Given the description of an element on the screen output the (x, y) to click on. 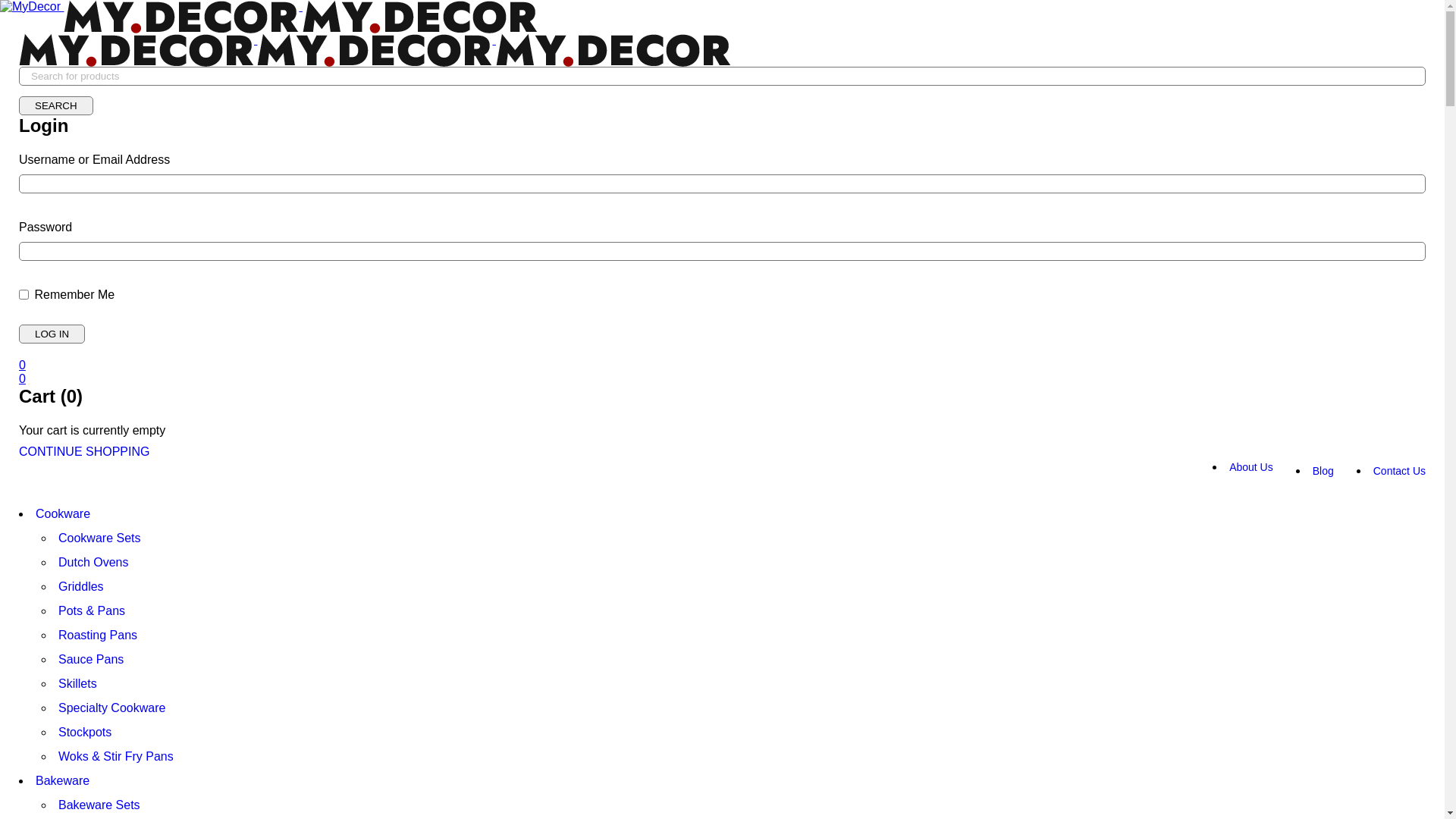
Bakeware Sets Element type: text (99, 804)
0 Element type: text (21, 364)
Roasting Pans Element type: text (97, 634)
Skillets Element type: text (77, 683)
Woks & Stir Fry Pans Element type: text (115, 755)
Cookware Element type: text (62, 513)
Log In Element type: text (51, 333)
Griddles Element type: text (80, 586)
MyDecor Element type: hover (30, 6)
Contact Us Element type: text (1399, 470)
MyDecor Element type: hover (136, 49)
MyDecor Element type: hover (613, 49)
About Us Element type: text (1251, 467)
MyDecor Element type: hover (419, 16)
Stockpots Element type: text (84, 731)
MyDecor Element type: hover (374, 49)
Cookware Sets Element type: text (99, 537)
Dutch Ovens Element type: text (93, 561)
Pots & Pans Element type: text (91, 610)
Bakeware Element type: text (62, 780)
Search Element type: text (55, 105)
CONTINUE SHOPPING Element type: text (83, 451)
Specialty Cookware Element type: text (111, 707)
Blog Element type: text (1322, 470)
0 Element type: text (21, 378)
MyDecor Element type: hover (180, 16)
Sauce Pans Element type: text (90, 658)
